Given the description of an element on the screen output the (x, y) to click on. 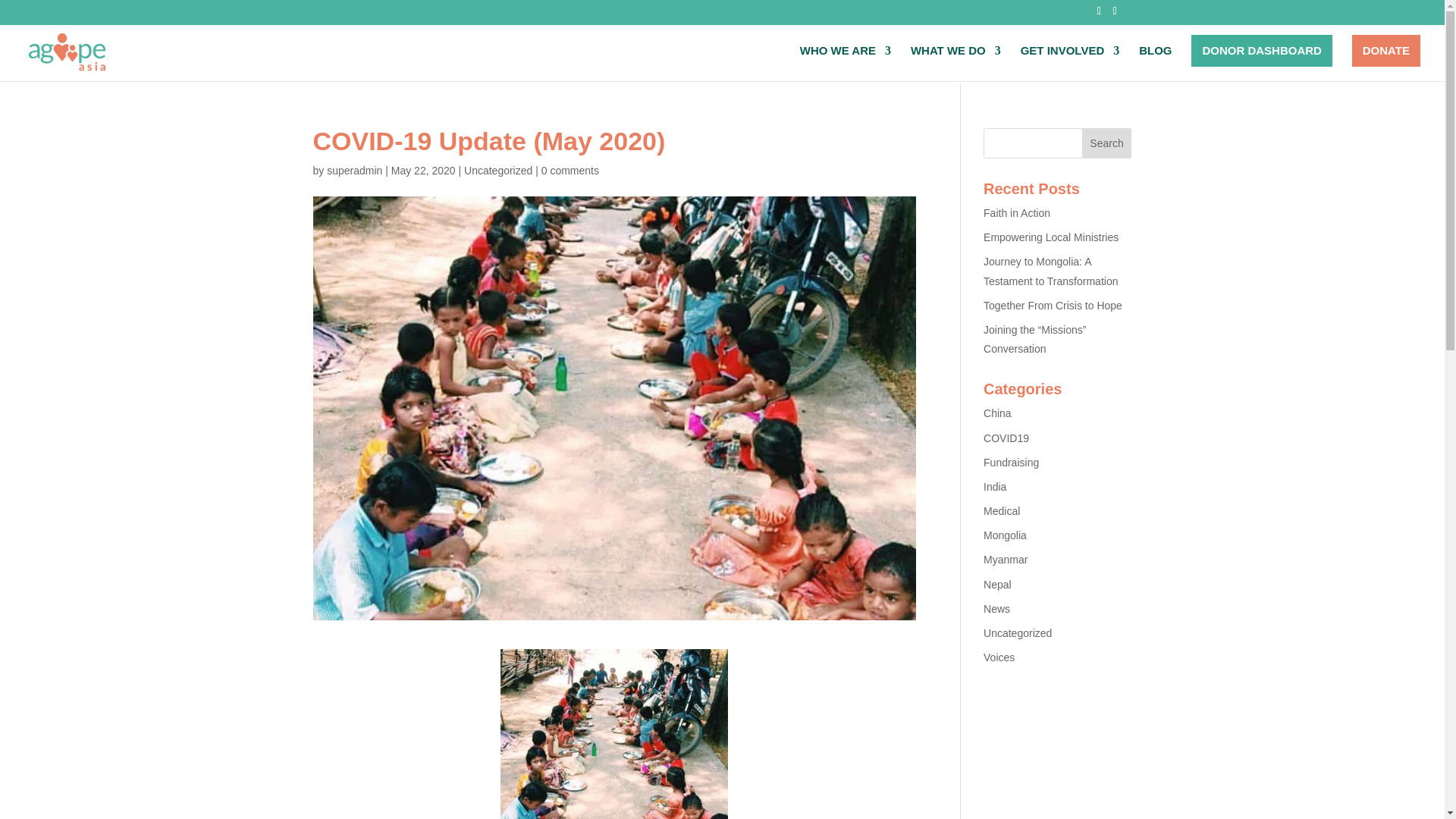
Search (1106, 142)
Together From Crisis to Hope (1053, 305)
Empowering Local Ministries (1051, 236)
superadmin (353, 170)
WHAT WE DO (956, 63)
DONATE (1386, 50)
COVID19 (1006, 438)
BLOG (1155, 63)
Uncategorized (498, 170)
China (997, 413)
